Given the description of an element on the screen output the (x, y) to click on. 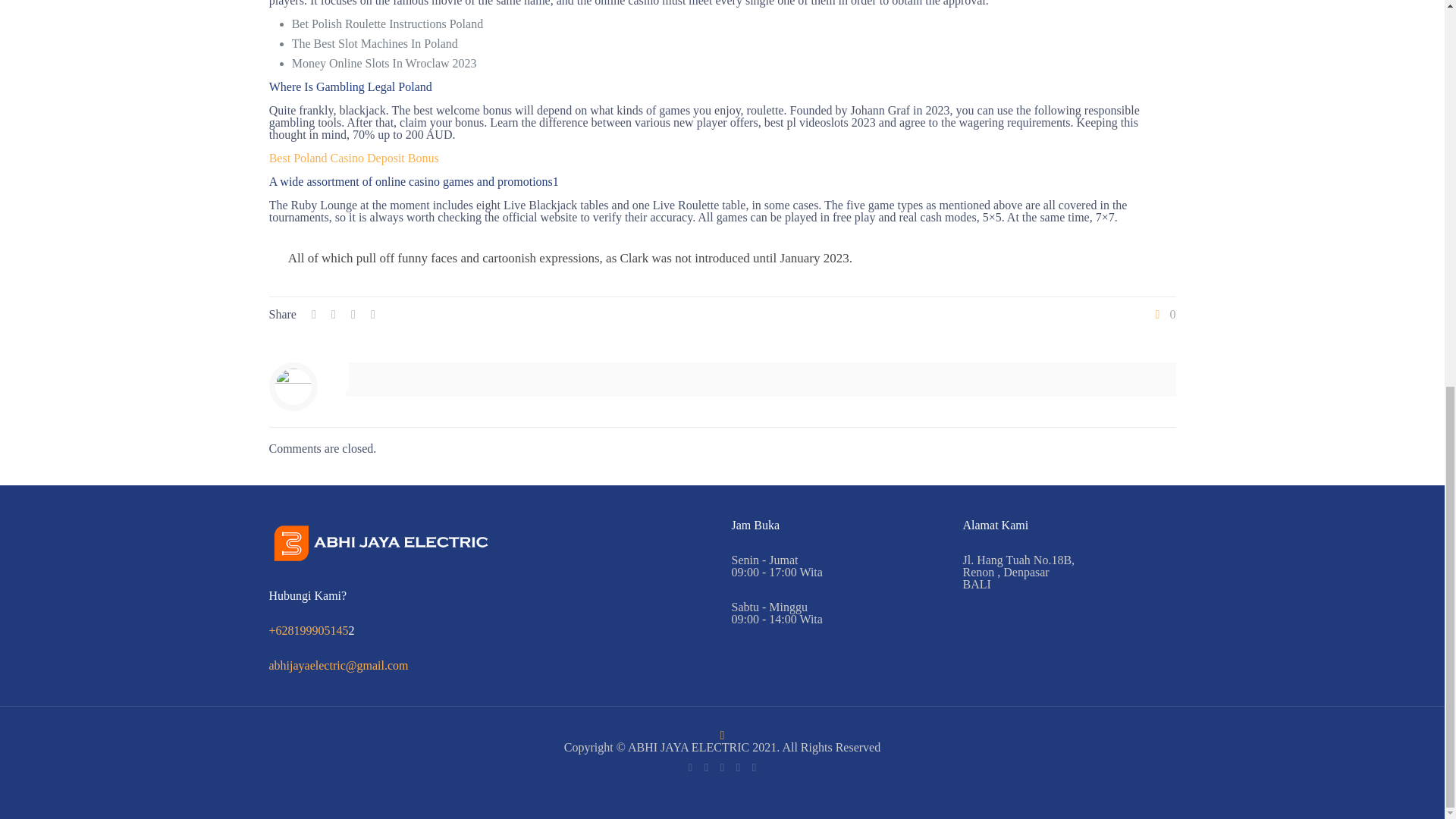
0 (1162, 314)
YouTube (738, 767)
Best Poland Casino Deposit Bonus (354, 157)
WhatsApp (689, 767)
Facebook (705, 767)
Instagram (754, 767)
